Given the description of an element on the screen output the (x, y) to click on. 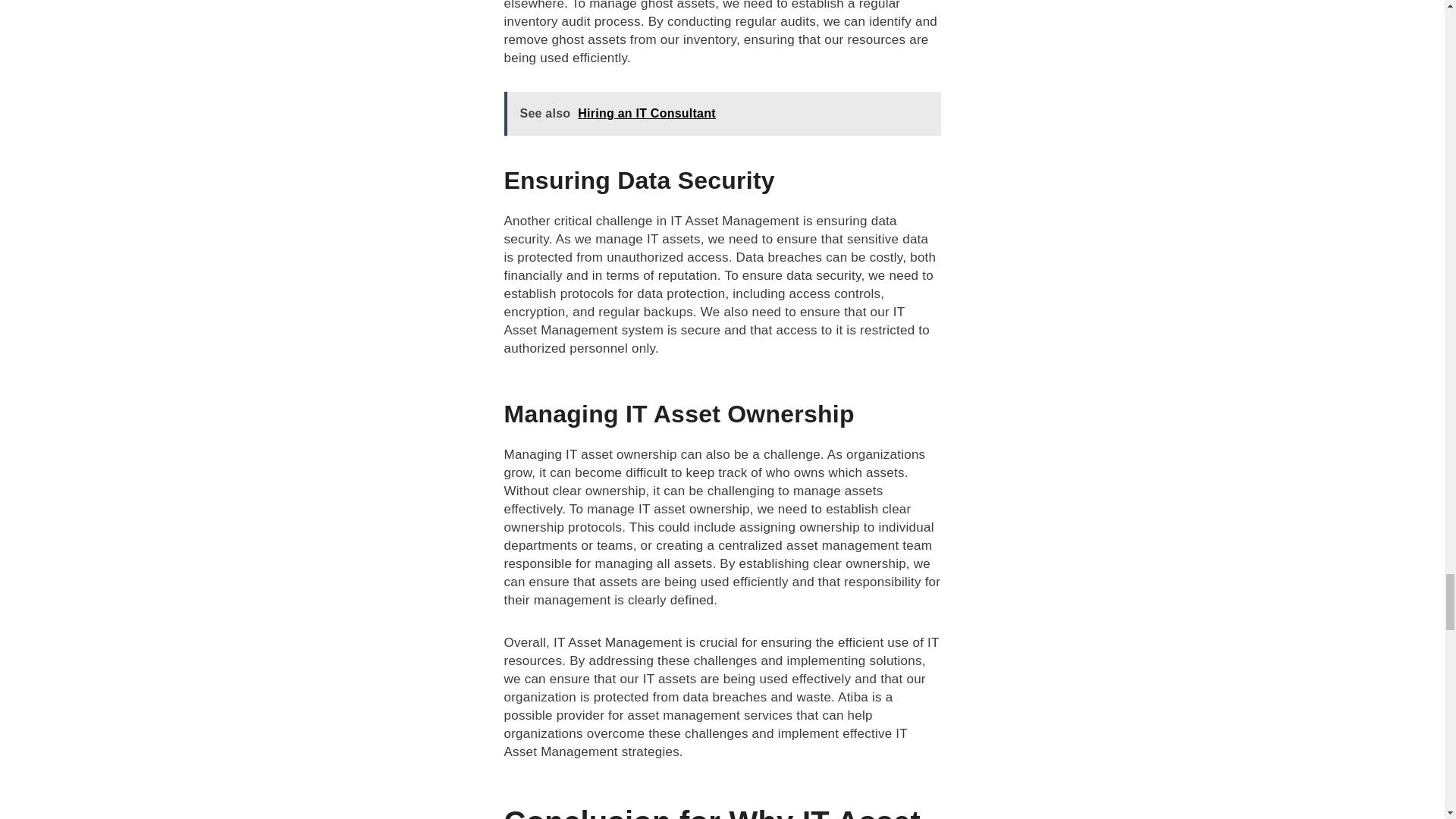
See also  Hiring an IT Consultant (721, 113)
